Given the description of an element on the screen output the (x, y) to click on. 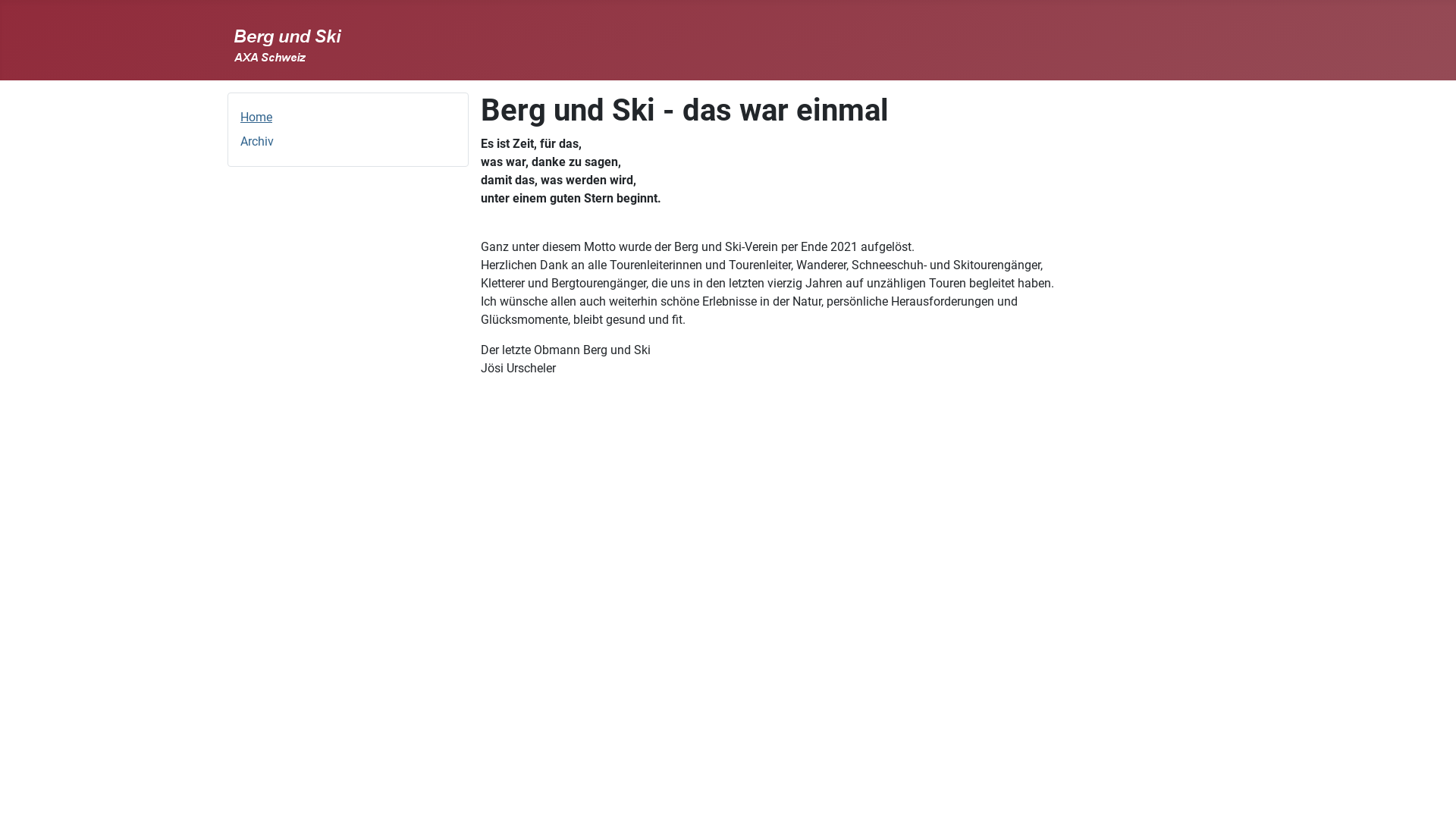
Archiv Element type: text (256, 141)
Home Element type: text (256, 116)
